Given the description of an element on the screen output the (x, y) to click on. 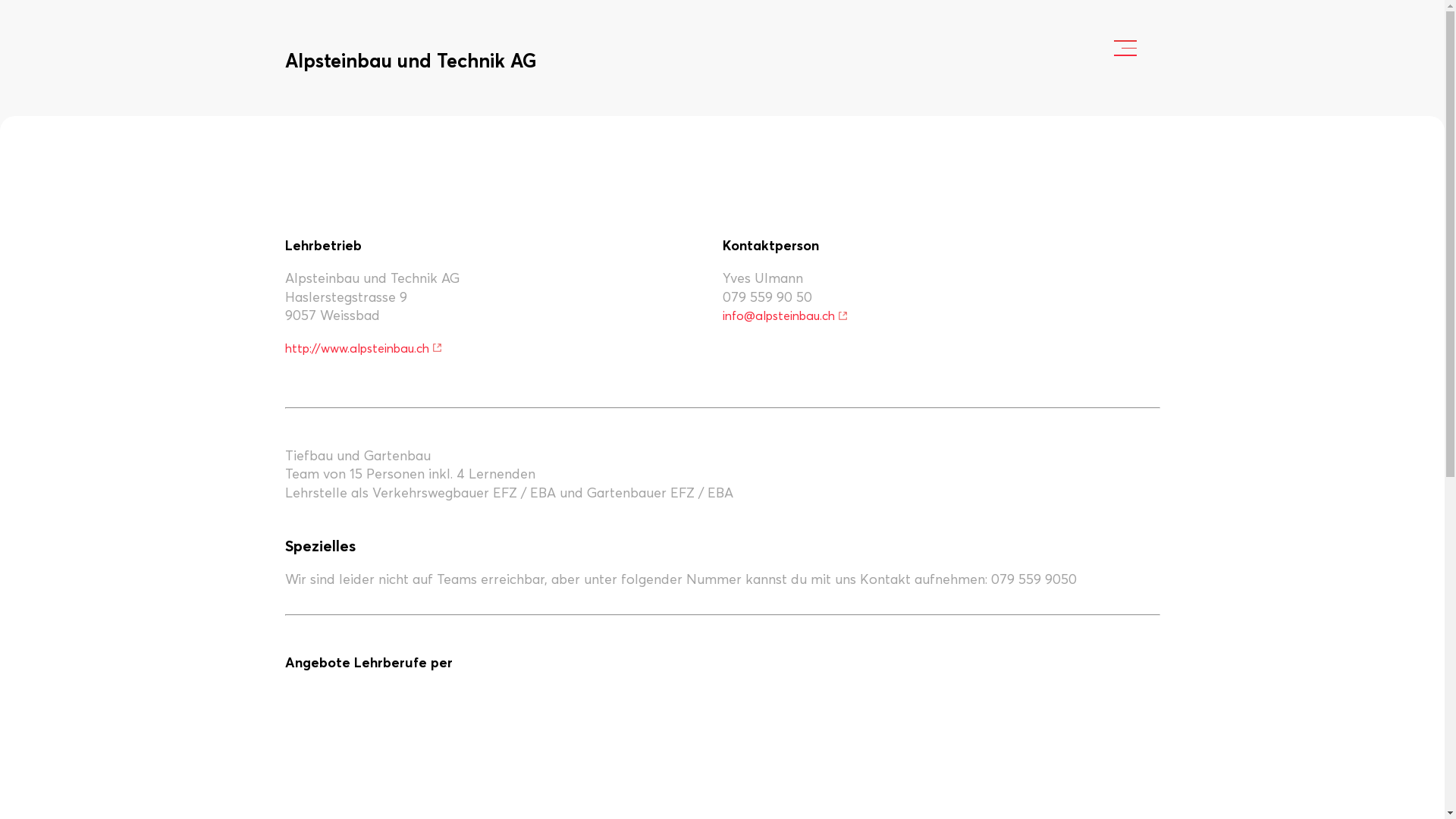
Impressum Element type: text (319, 740)
http://www.alpsteinbau.ch Element type: text (363, 347)
Datenschutz Element type: text (415, 740)
info@alpsteinbau.ch Element type: text (784, 315)
